Given the description of an element on the screen output the (x, y) to click on. 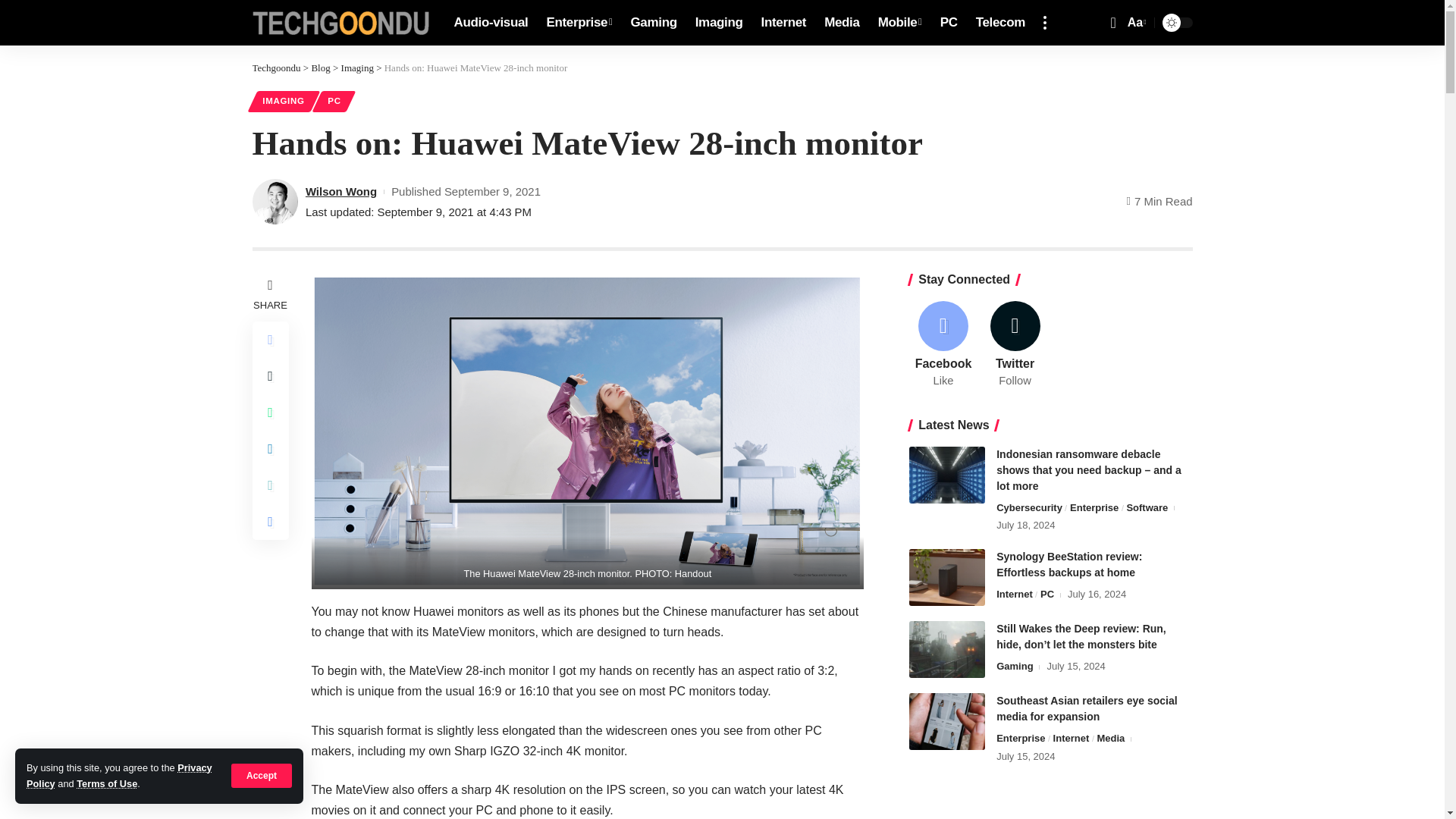
Privacy Policy (119, 775)
Techgoondu (340, 22)
Go to Blog. (320, 67)
Terms of Use (106, 783)
Audio-visual (490, 22)
Synology BeeStation review: Effortless backups at home (1135, 22)
Accept (946, 577)
Enterprise (261, 775)
Internet (579, 22)
Mobile (783, 22)
Go to Techgoondu. (900, 22)
Imaging (275, 67)
Gaming (718, 22)
